Given the description of an element on the screen output the (x, y) to click on. 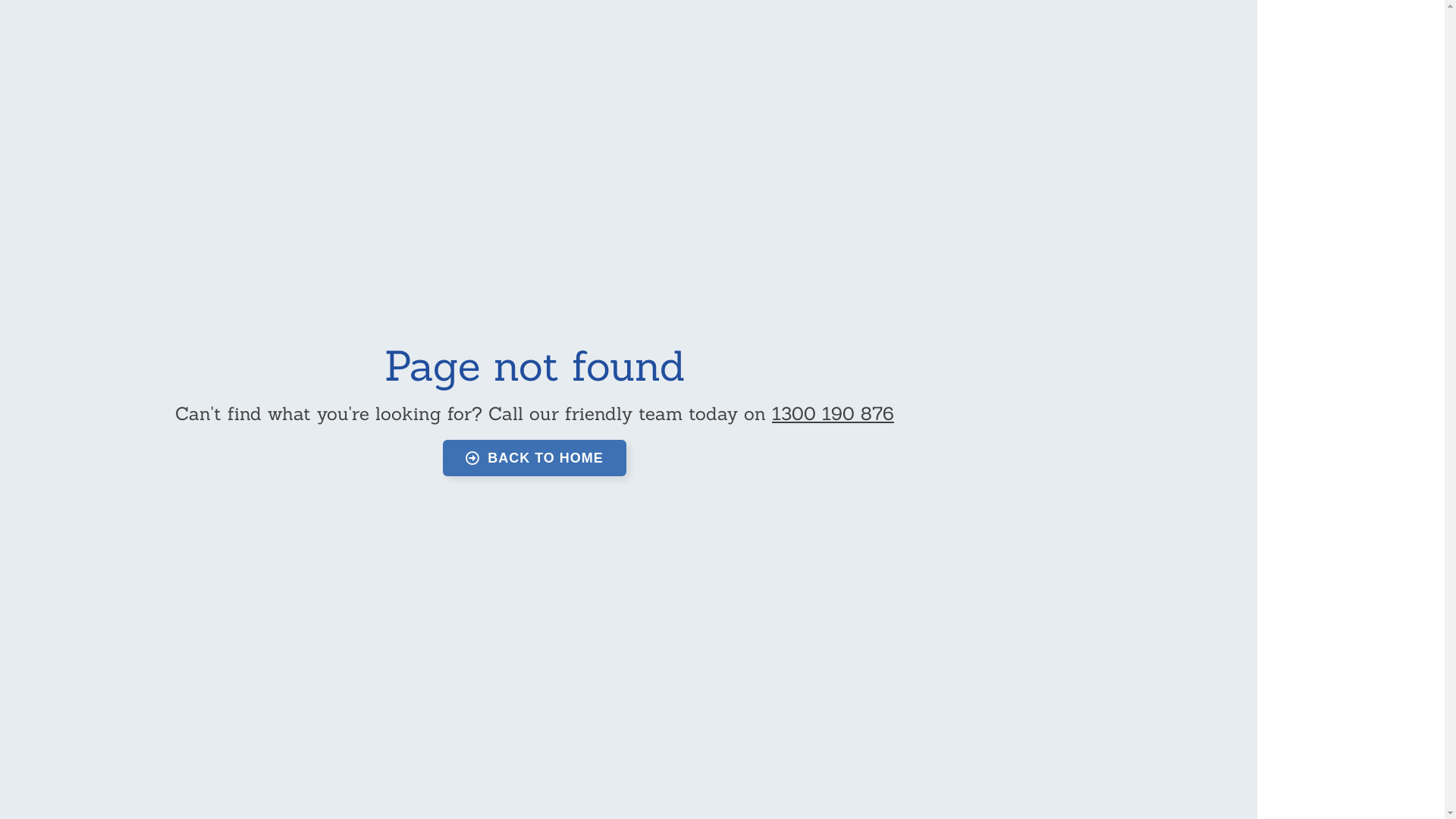
BACK TO HOME Element type: text (534, 457)
